Given the description of an element on the screen output the (x, y) to click on. 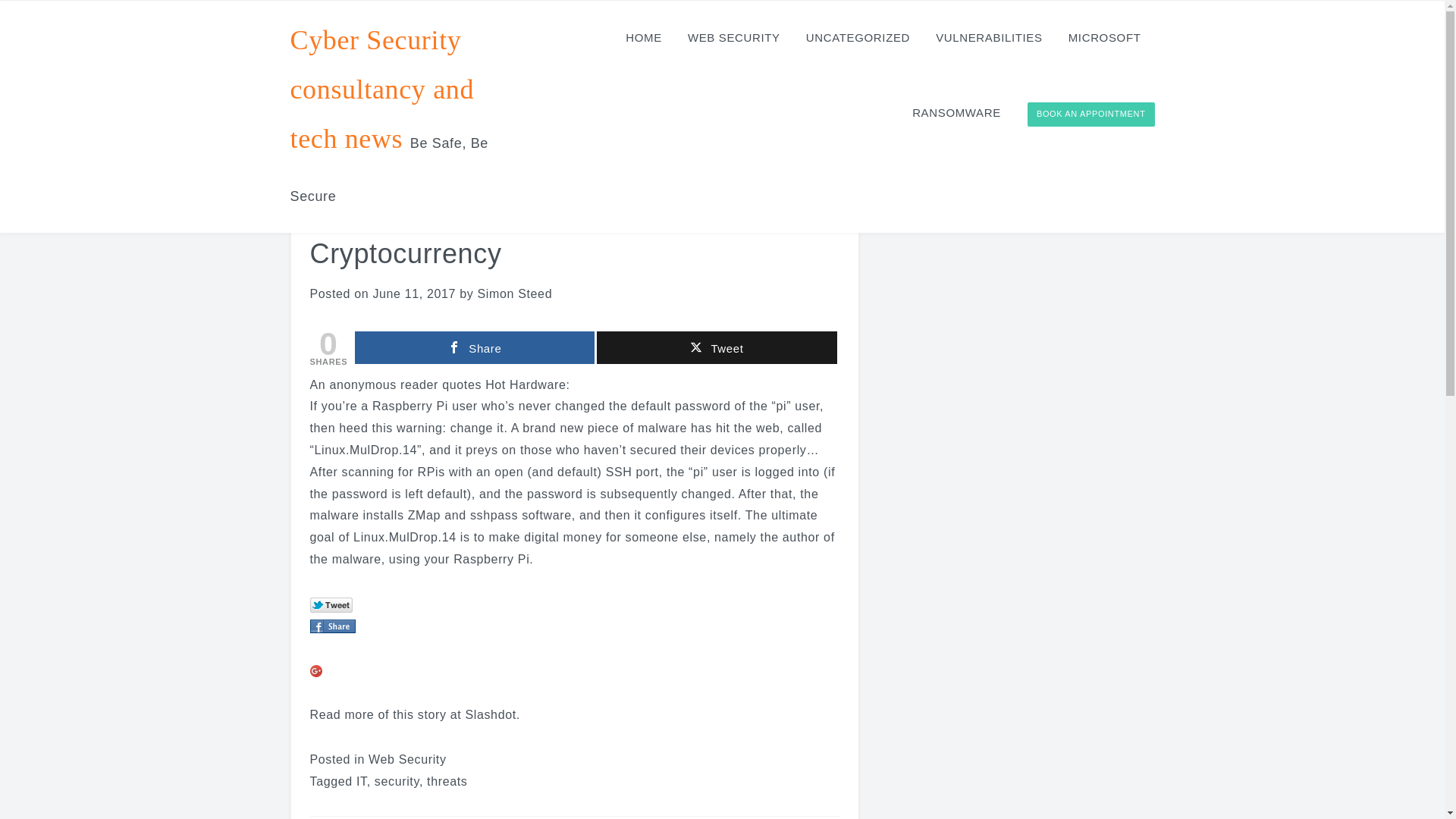
Simon Steed (515, 293)
Tweet (715, 347)
Read more of this story (376, 714)
Cyber Security consultancy and tech news (381, 89)
BOOK AN APPOINTMENT (1090, 114)
MICROSOFT (1104, 38)
threats (446, 780)
VULNERABILITIES (988, 38)
WEB SECURITY (733, 38)
security (396, 780)
June 11, 2017 (413, 293)
HOME (643, 38)
RANSOMWARE (956, 112)
UNCATEGORIZED (857, 38)
Share (474, 347)
